Given the description of an element on the screen output the (x, y) to click on. 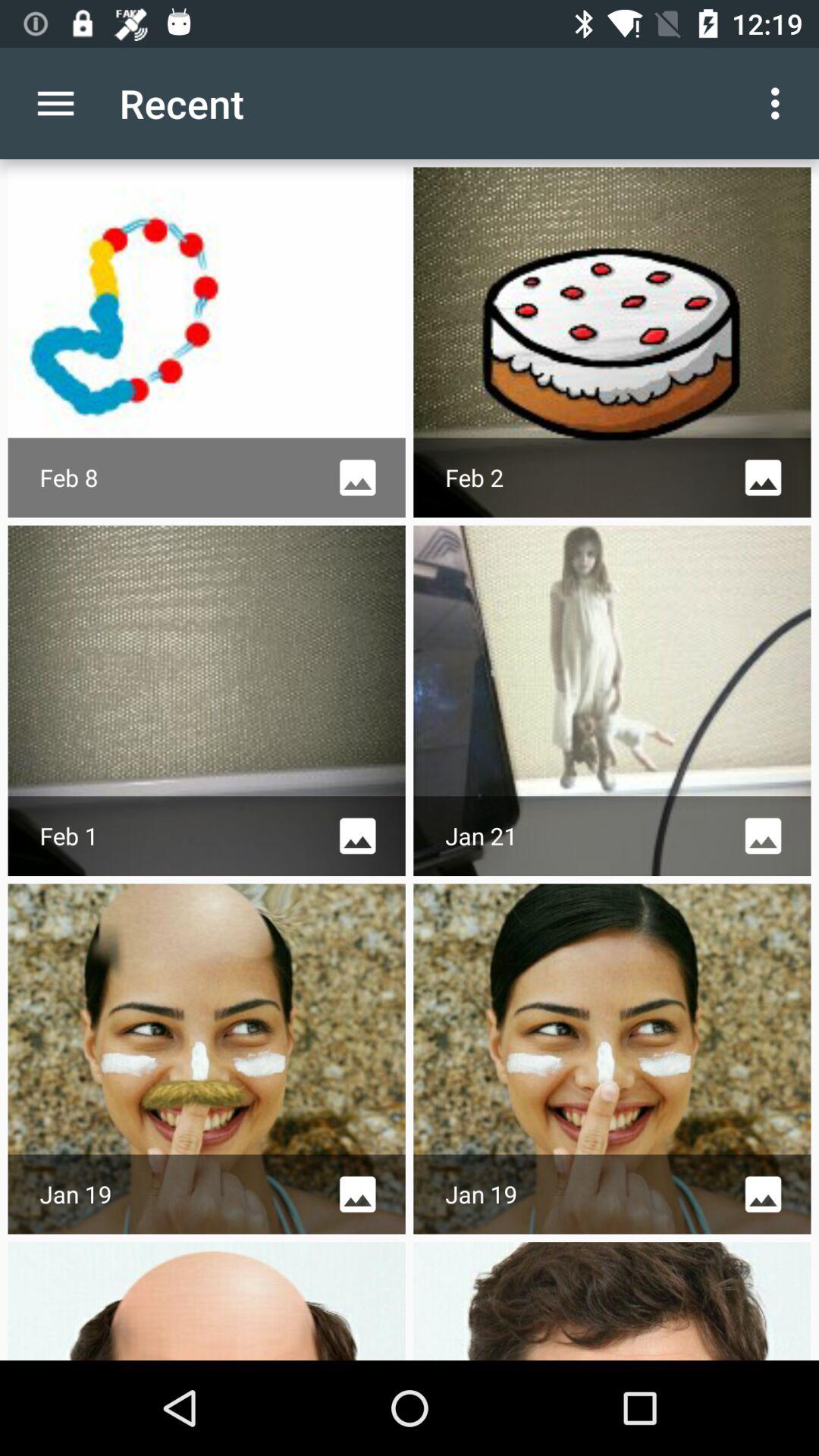
turn off the app next to recent app (55, 103)
